Given the description of an element on the screen output the (x, y) to click on. 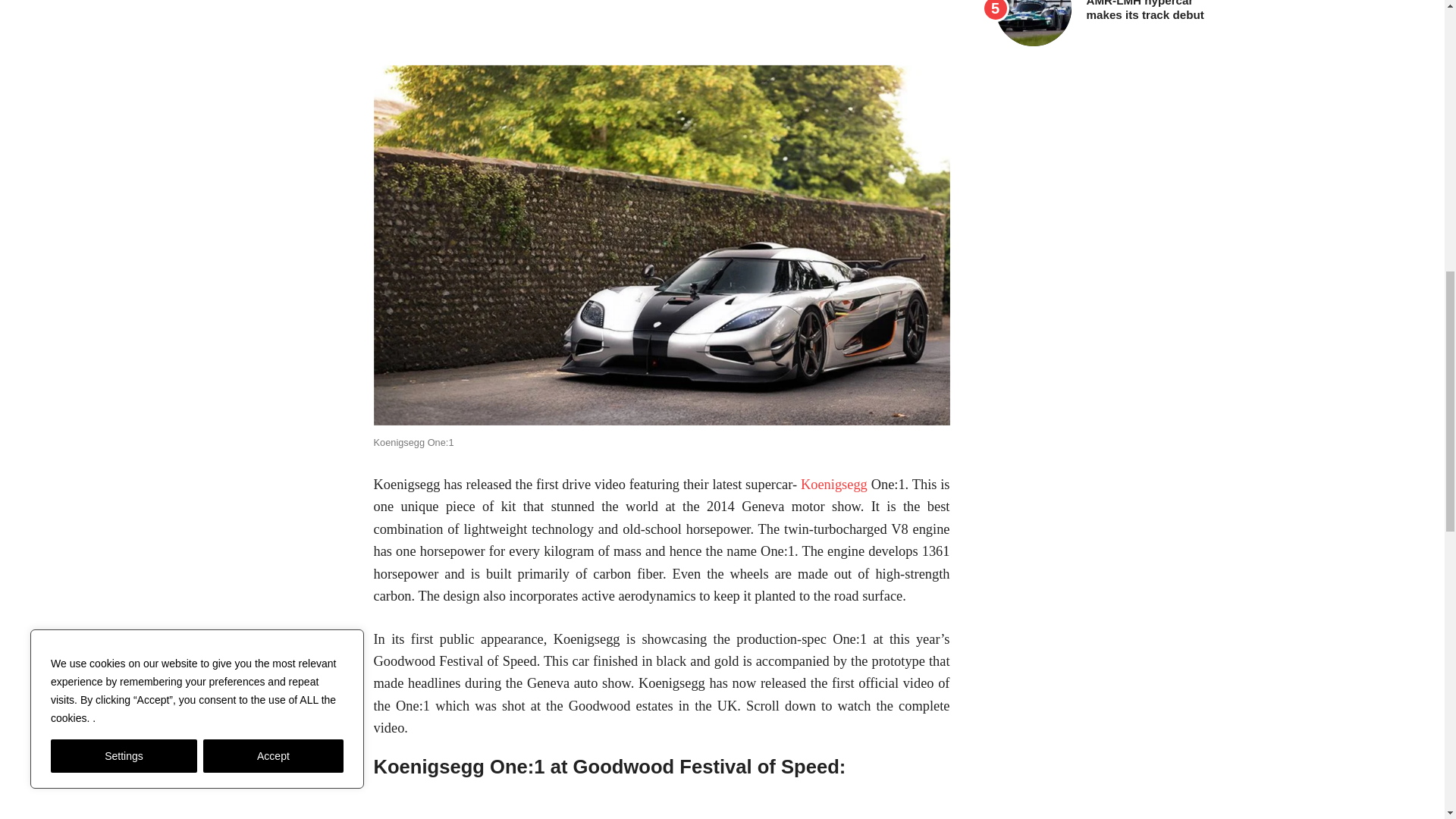
Koenigsegg (833, 484)
Advertisement (660, 30)
